Given the description of an element on the screen output the (x, y) to click on. 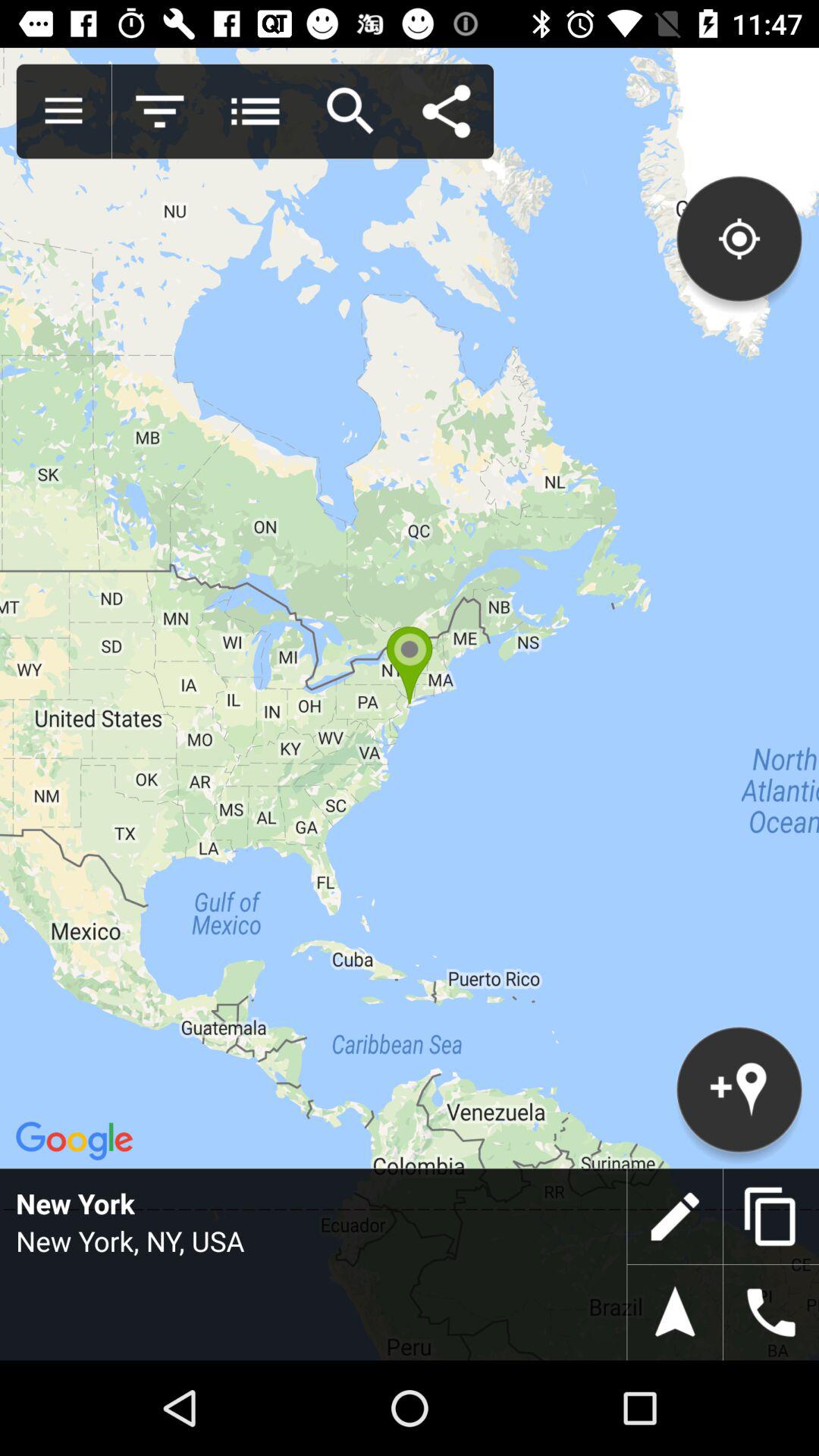
it helps to share others (446, 111)
